Given the description of an element on the screen output the (x, y) to click on. 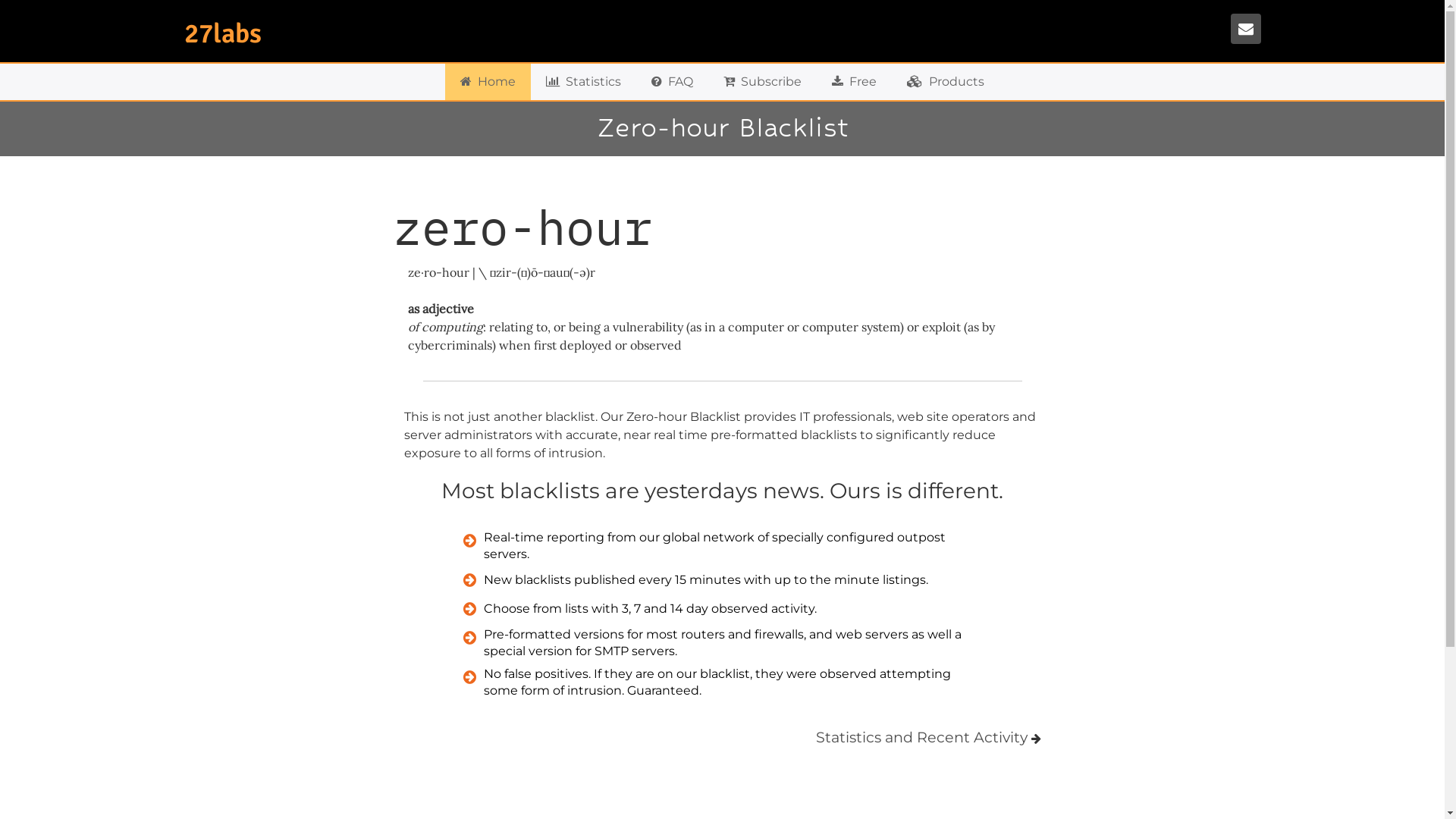
FAQ Element type: text (672, 81)
Subscribe Element type: text (762, 81)
Products Element type: text (945, 81)
Contact Element type: hover (1245, 28)
Free Element type: text (853, 81)
Statistics and Recent Activity Element type: text (921, 737)
Statistics Element type: text (583, 81)
Choose from lists with 3, 7 and 14 day observed activity. Element type: text (722, 608)
Home Element type: text (487, 81)
